Given the description of an element on the screen output the (x, y) to click on. 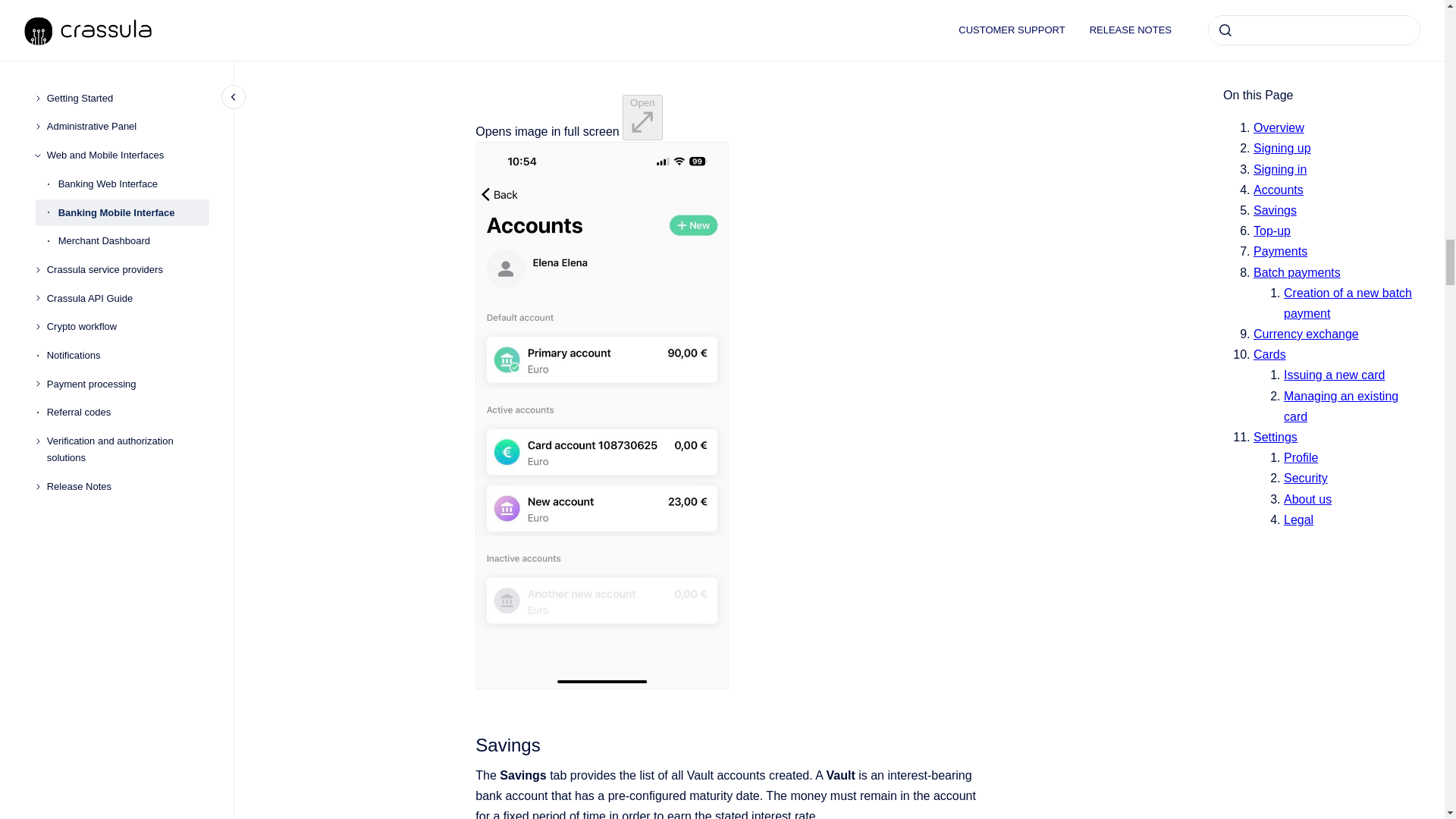
Copy to clipboard (468, 743)
